Given the description of an element on the screen output the (x, y) to click on. 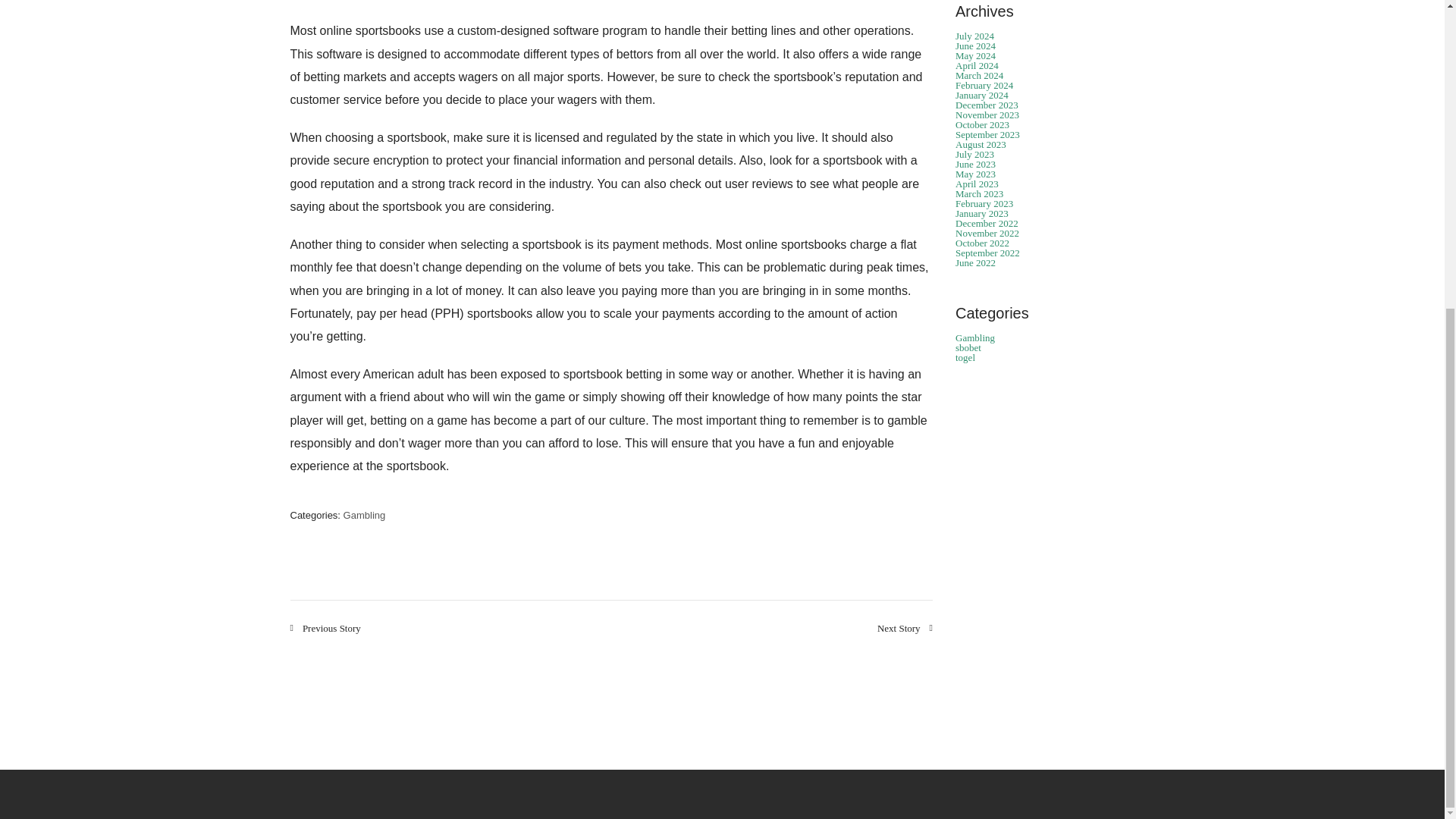
September 2023 (987, 134)
March 2023 (979, 193)
Gambling (364, 514)
February 2024 (984, 84)
July 2024 (974, 35)
November 2023 (987, 114)
April 2024 (976, 65)
Next Story (905, 628)
June 2024 (975, 45)
October 2022 (982, 242)
February 2023 (984, 203)
January 2024 (982, 94)
October 2023 (982, 124)
Previous Story (324, 628)
April 2023 (976, 183)
